Given the description of an element on the screen output the (x, y) to click on. 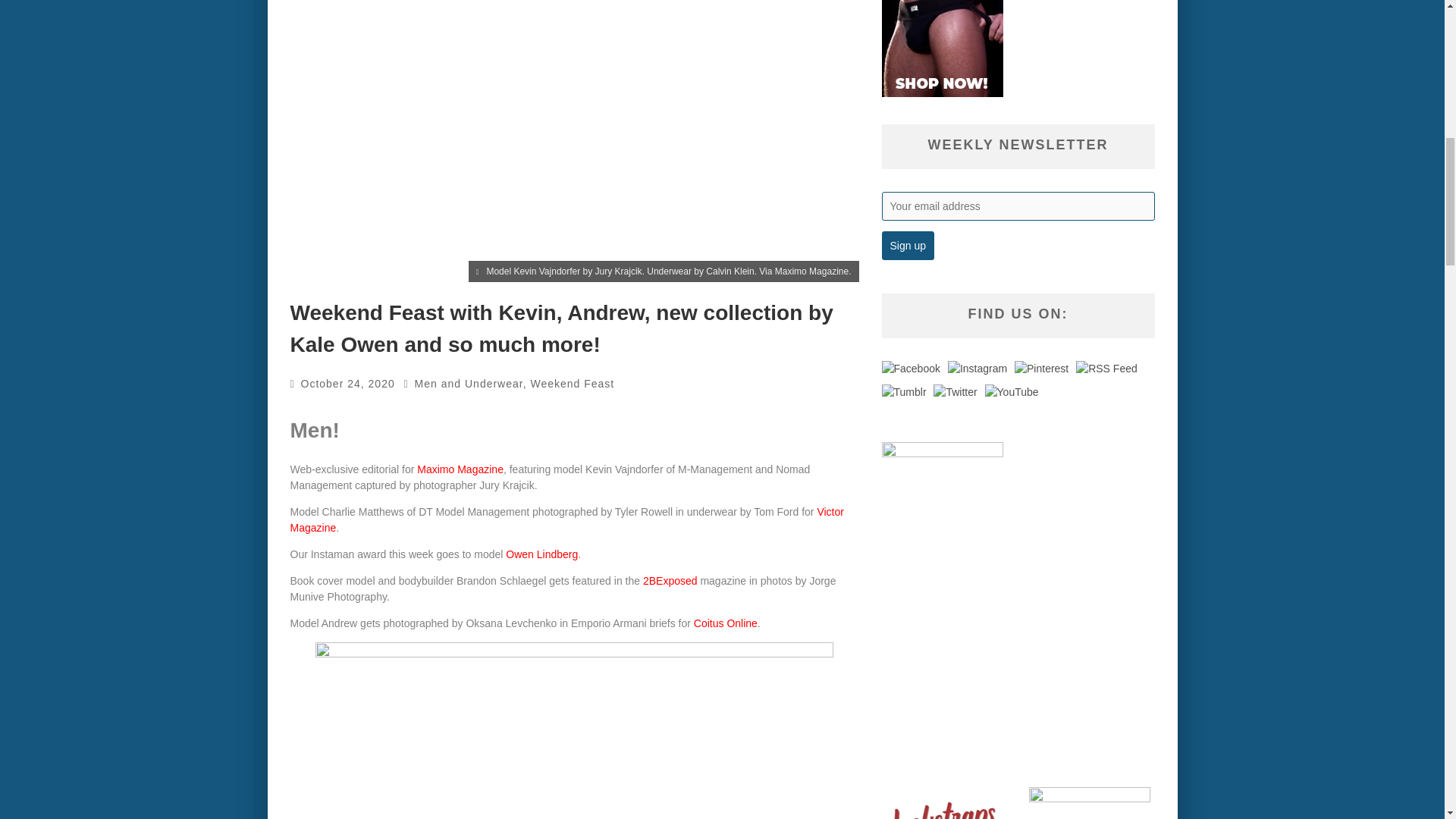
Sign up (906, 245)
